Given the description of an element on the screen output the (x, y) to click on. 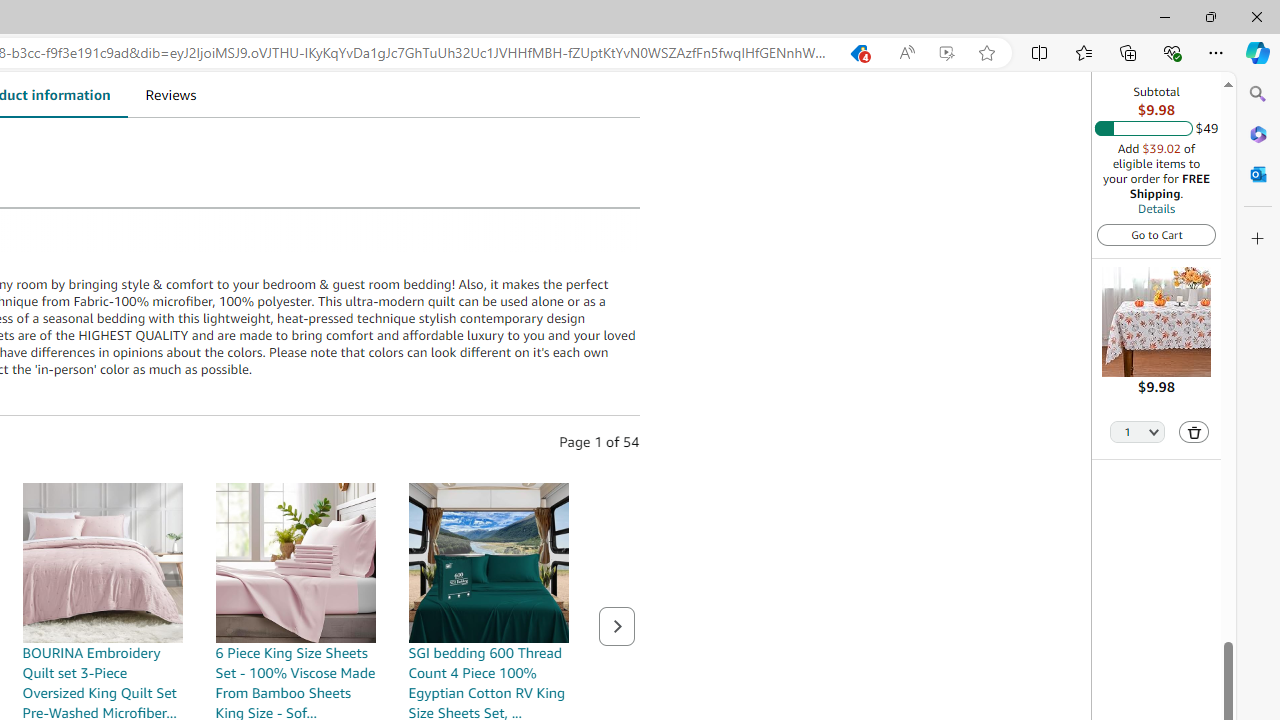
Enhance video (946, 53)
